Given the description of an element on the screen output the (x, y) to click on. 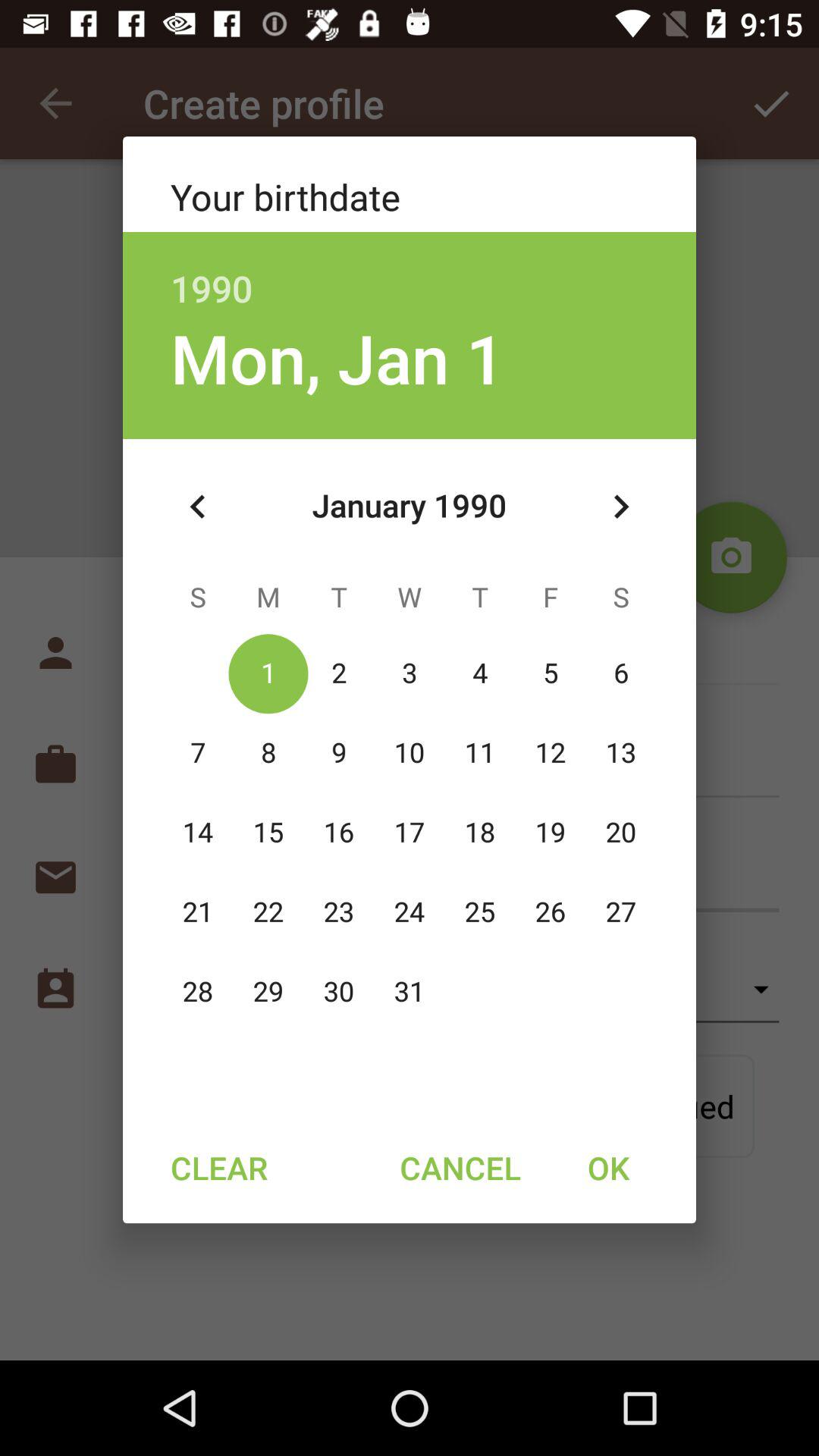
turn on the item above clear (197, 506)
